Given the description of an element on the screen output the (x, y) to click on. 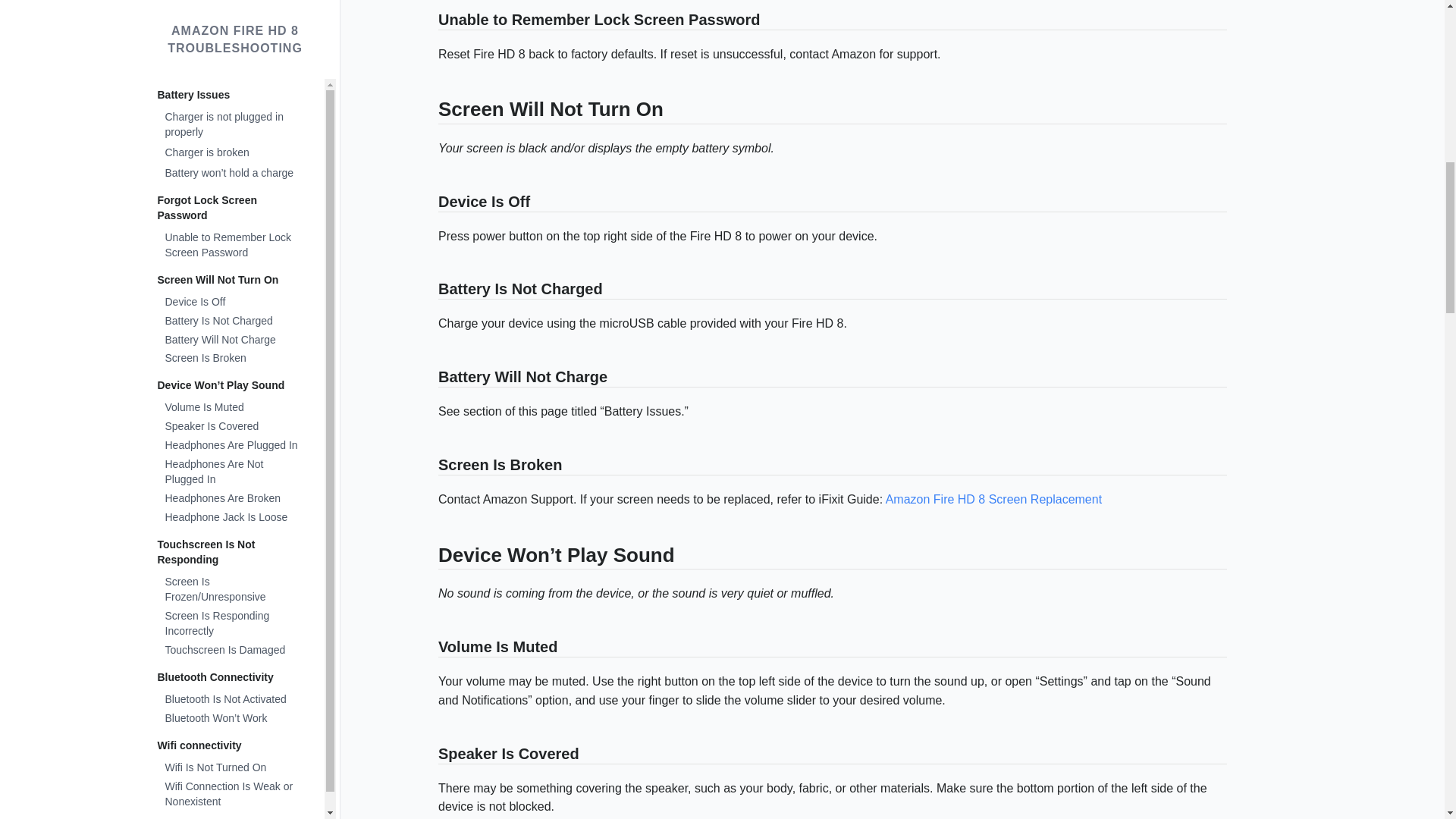
Wifi Is Not Turned On (229, 5)
Wifi Connection Is Weak or Nonexistent (229, 27)
